Given the description of an element on the screen output the (x, y) to click on. 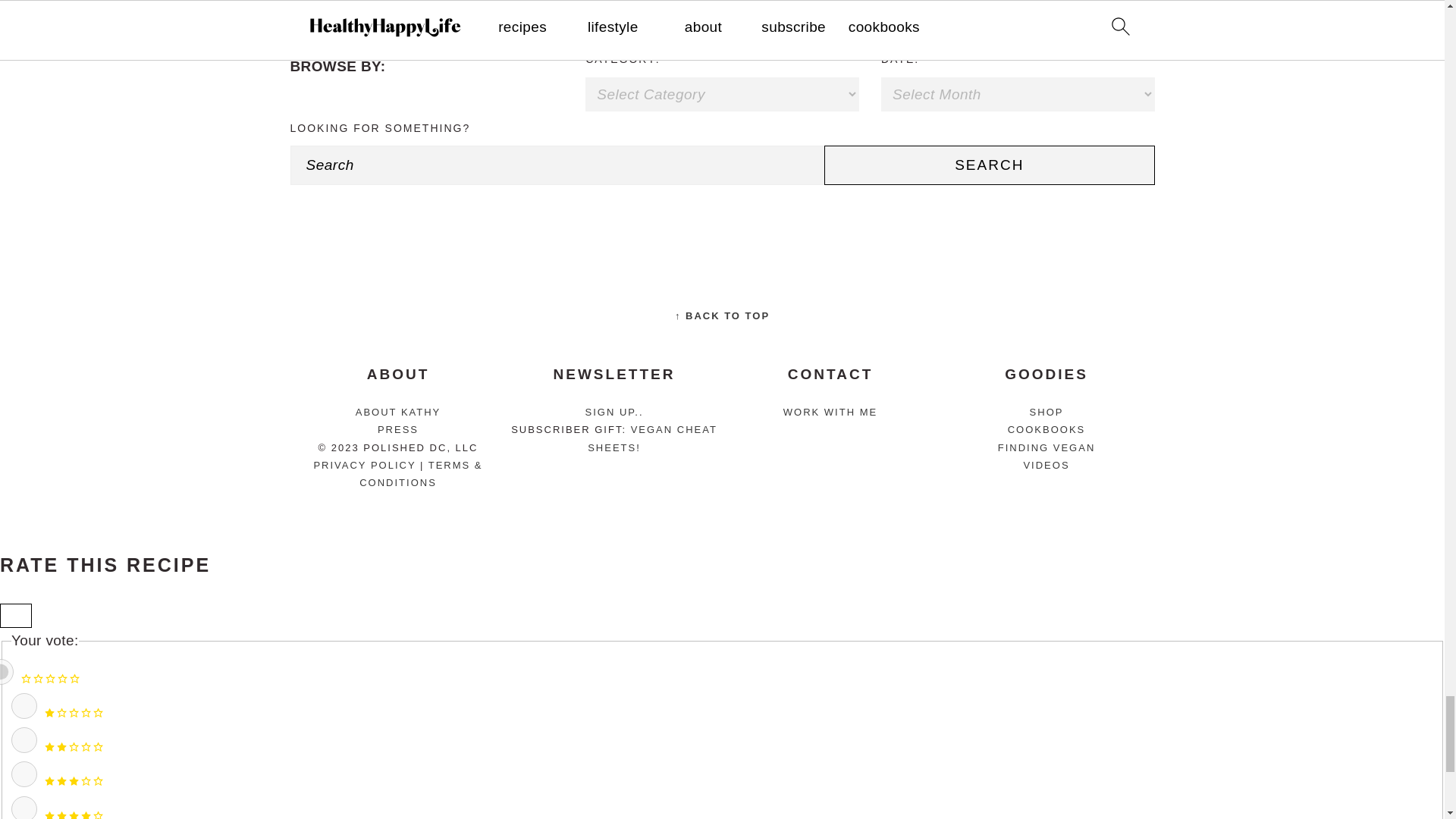
2 (24, 739)
3 (24, 774)
1 (24, 705)
Search (989, 165)
4 (24, 807)
Search (989, 165)
